Given the description of an element on the screen output the (x, y) to click on. 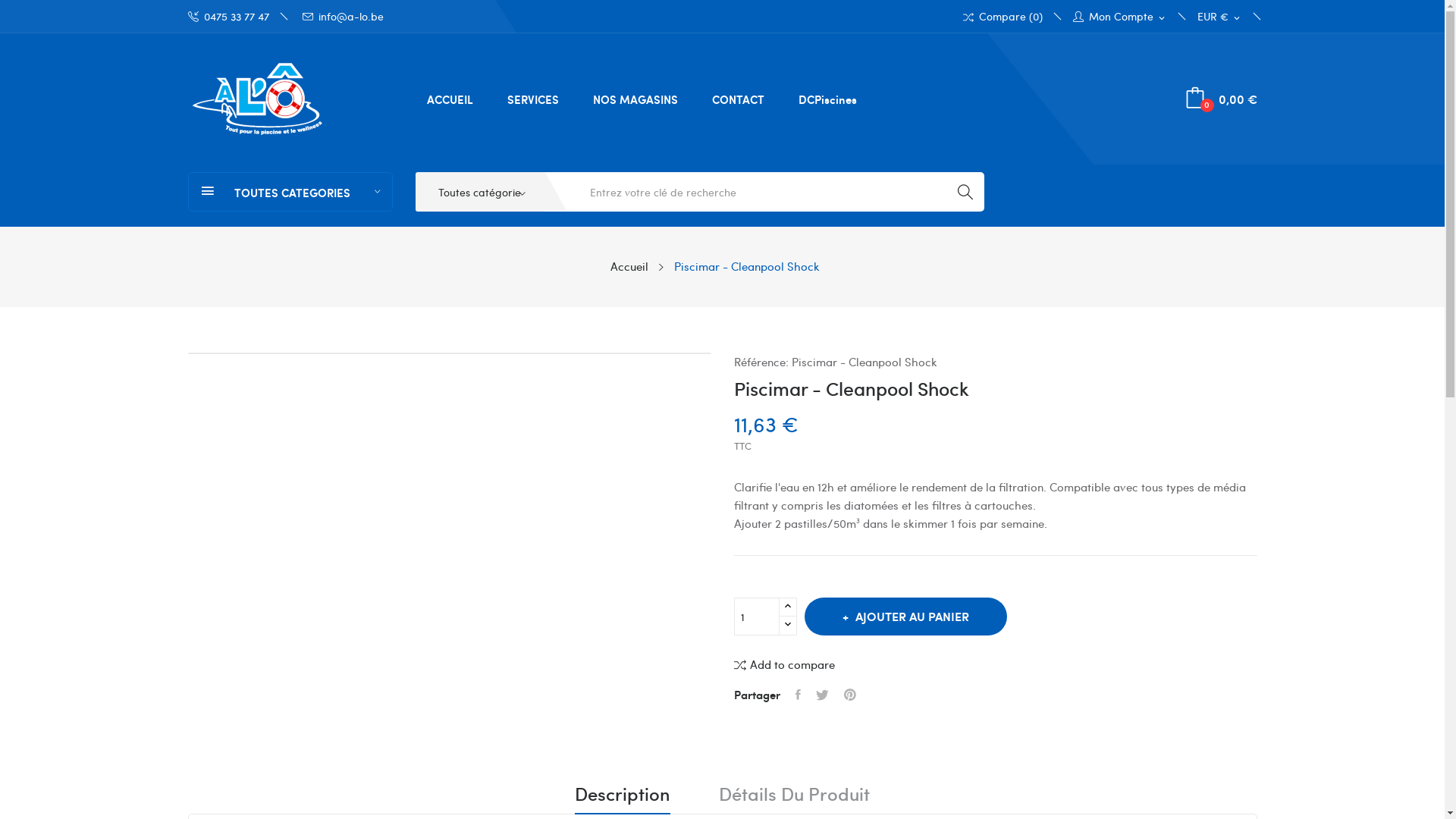
DCPiscines Element type: text (827, 99)
Tweet Element type: text (822, 694)
Mon Compte expand_more Element type: text (1119, 16)
CONTACT Element type: text (737, 99)
Accueil Element type: text (628, 265)
ACCUEIL Element type: text (449, 99)
Compare (0) Element type: text (1002, 15)
AJOUTER AU PANIER Element type: text (904, 616)
NOS MAGASINS Element type: text (634, 99)
Partager Element type: text (797, 694)
Add to compare Element type: text (784, 663)
0475 33 77 47 Element type: text (236, 15)
Pinterest Element type: text (848, 694)
Description Element type: text (622, 798)
SERVICES Element type: text (532, 99)
Piscimar - Cleanpool Shock Element type: text (746, 265)
info@a-lo.be Element type: text (342, 15)
